Given the description of an element on the screen output the (x, y) to click on. 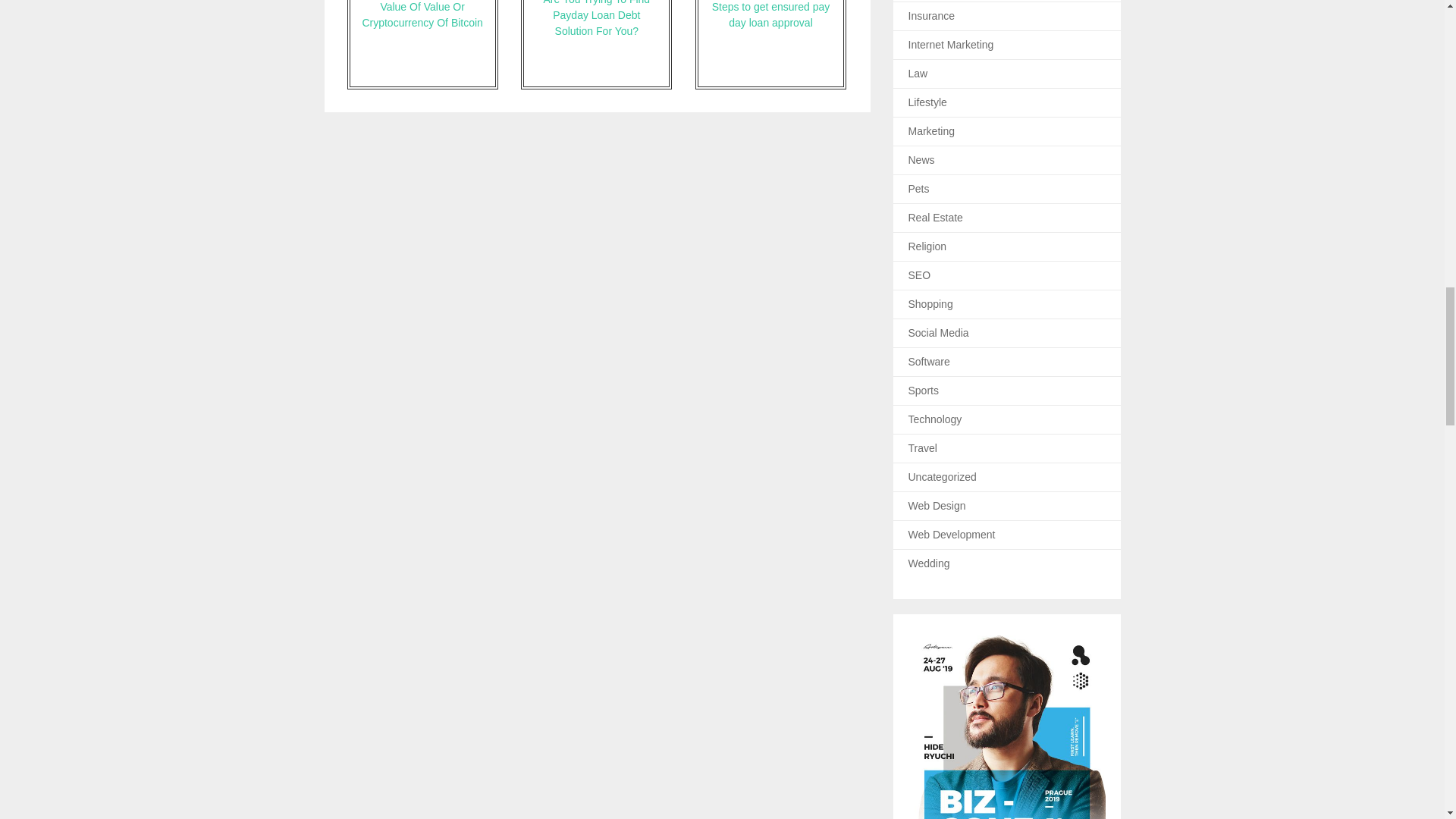
Internet Marketing (951, 44)
Are You Trying To Find Payday Loan Debt Solution For You? (596, 44)
Value Of Value Or Cryptocurrency Of Bitcoin (422, 44)
Steps to get ensured pay day loan approval (770, 44)
Real Estate (935, 217)
Insurance (931, 15)
Law (918, 73)
Are You Trying To Find Payday Loan Debt Solution For You? (596, 44)
Value Of Value Or Cryptocurrency Of Bitcoin (422, 44)
Lifestyle (927, 102)
